Given the description of an element on the screen output the (x, y) to click on. 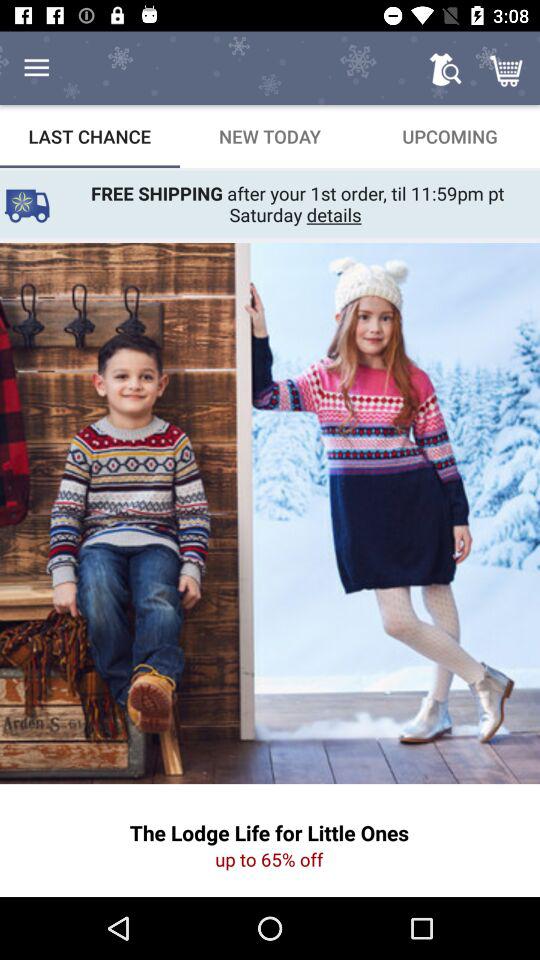
launch icon above the upcoming (444, 67)
